Given the description of an element on the screen output the (x, y) to click on. 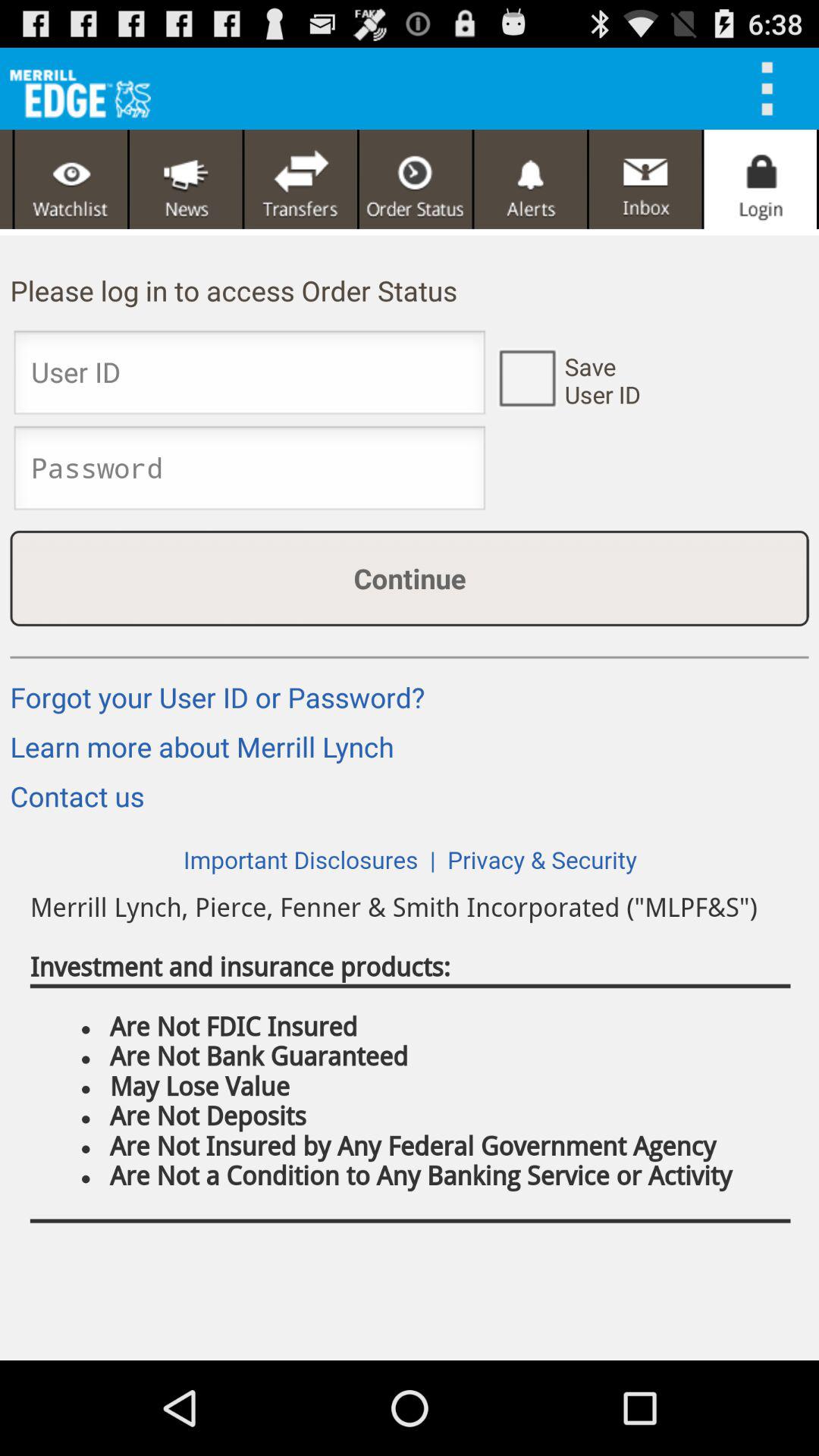
login button (760, 179)
